Given the description of an element on the screen output the (x, y) to click on. 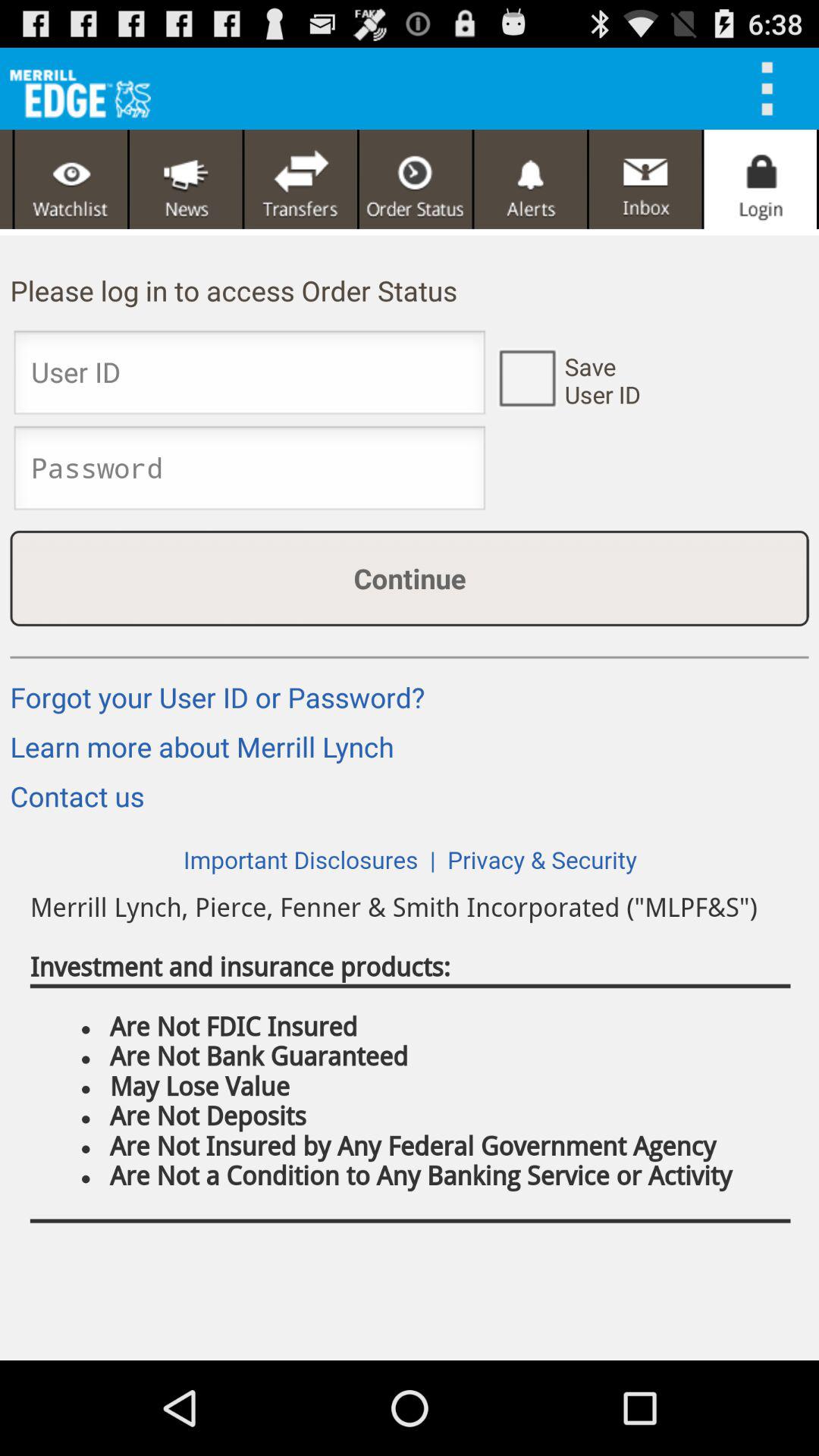
login button (760, 179)
